Given the description of an element on the screen output the (x, y) to click on. 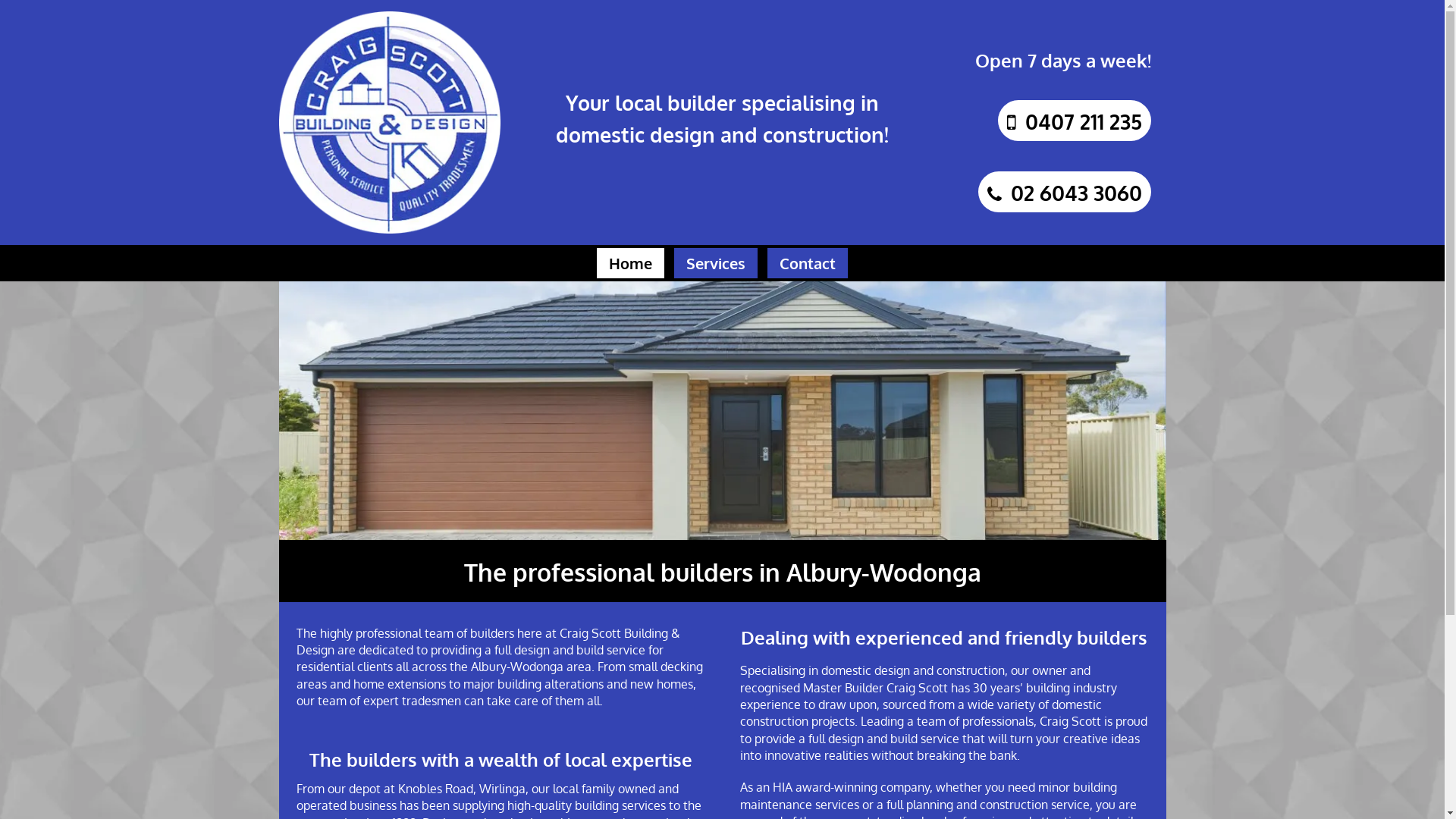
Services Element type: text (715, 262)
craig scott building and design logo Element type: hover (390, 122)
Contact Element type: text (807, 262)
craig scott building home renovations Element type: hover (722, 409)
Home Element type: text (630, 262)
